Given the description of an element on the screen output the (x, y) to click on. 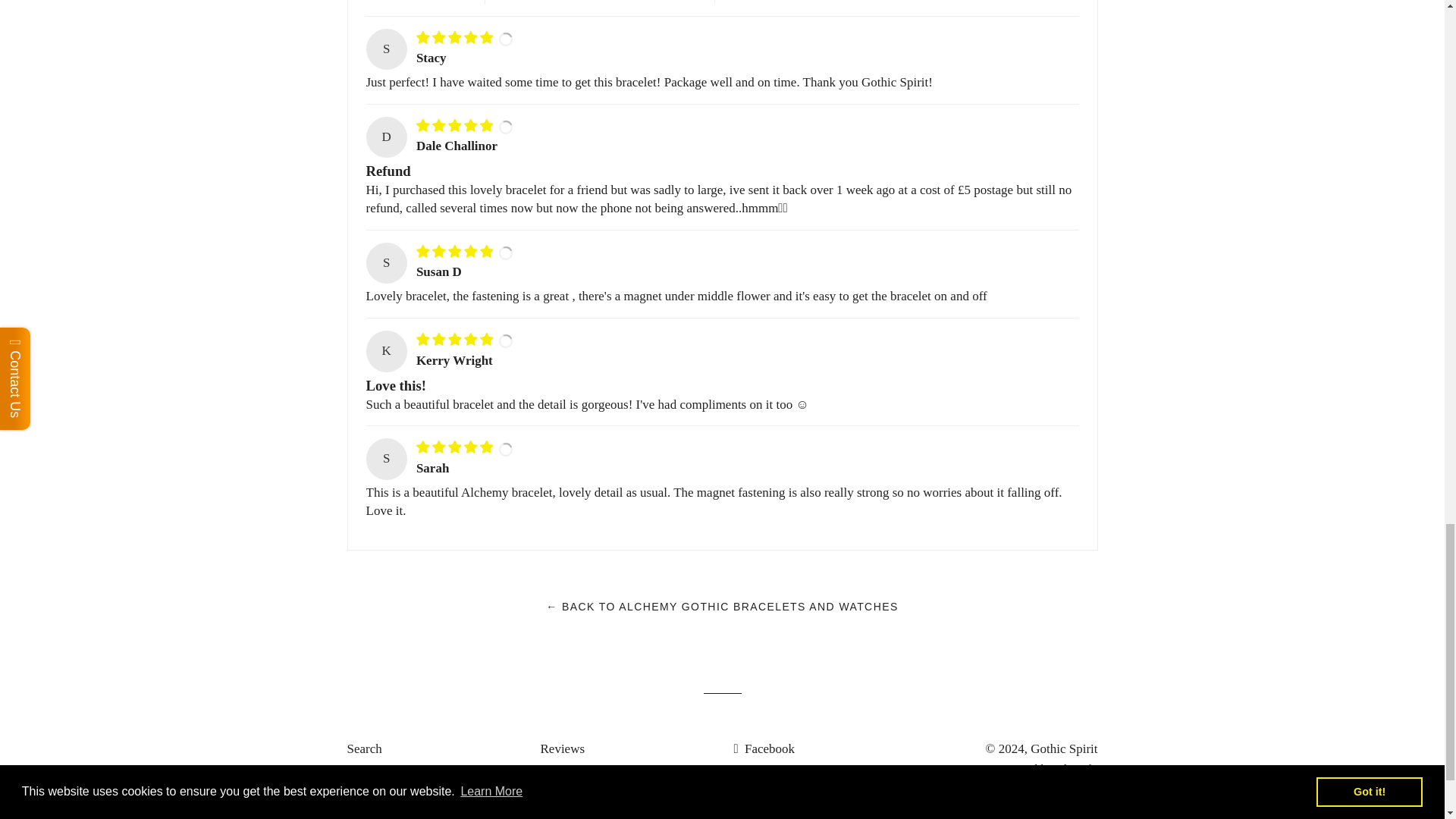
Gothic Spirit on Instagram (764, 815)
Gothic Spirit on Pinterest (761, 795)
Gothic Spirit on Facebook (763, 748)
Gothic Spirit on Twitter (758, 771)
